Given the description of an element on the screen output the (x, y) to click on. 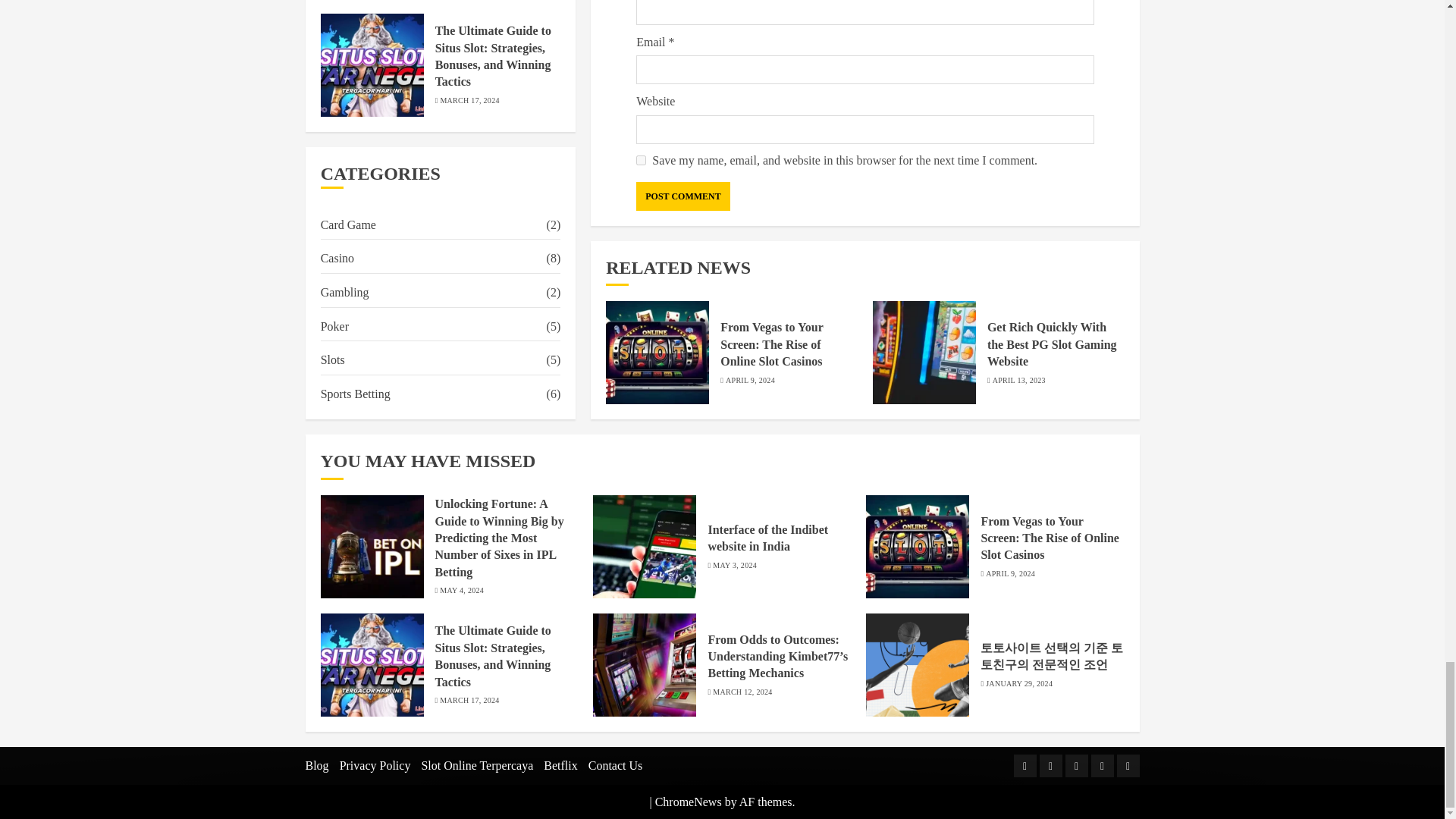
Post Comment (682, 195)
yes (641, 160)
Post Comment (682, 195)
